Given the description of an element on the screen output the (x, y) to click on. 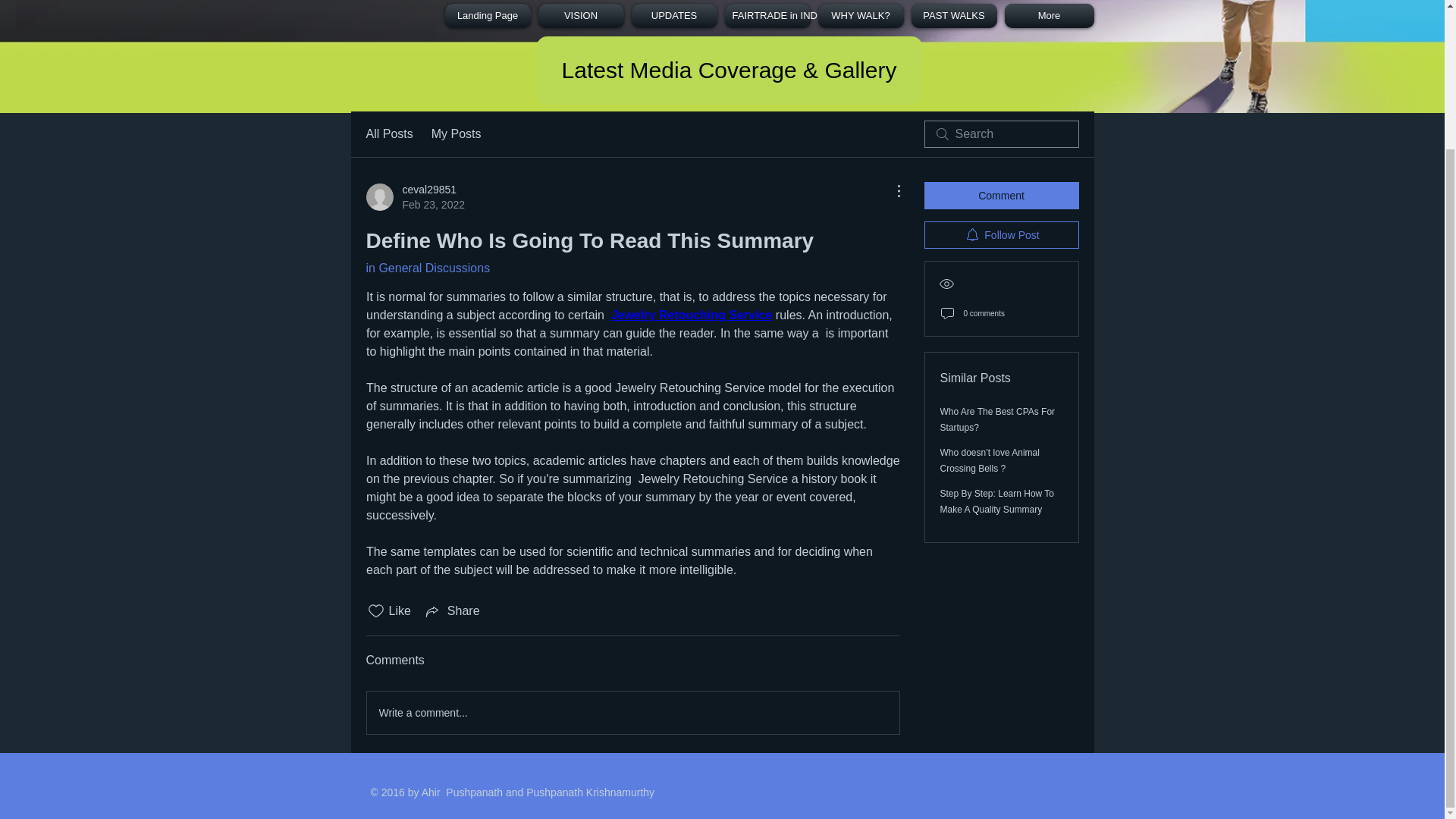
Landing Page (487, 15)
My Posts (455, 134)
FAIRTRADE in INDIA (766, 15)
Jewelry Retouching Service (690, 314)
All Posts (388, 134)
Who Are The Best CPAs For Startups? (997, 419)
Comment (1000, 195)
WHY WALK? (860, 15)
Follow Post (1000, 234)
Step By Step: Learn How To Make A Quality Summary (997, 501)
UPDATES (414, 196)
VISION (673, 15)
in General Discussions (580, 15)
Share (427, 267)
